Given the description of an element on the screen output the (x, y) to click on. 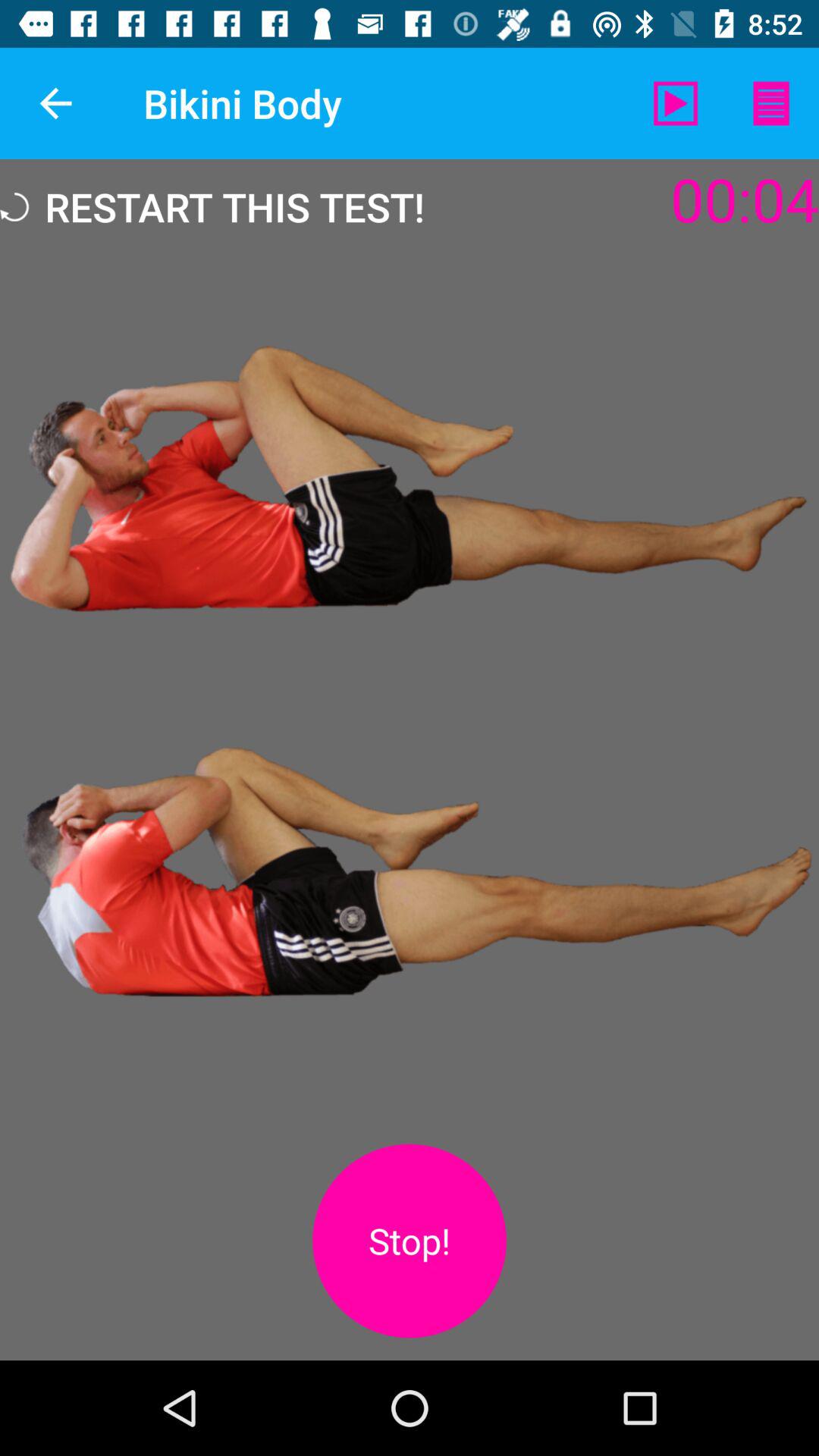
press item above restart this test! item (55, 103)
